Given the description of an element on the screen output the (x, y) to click on. 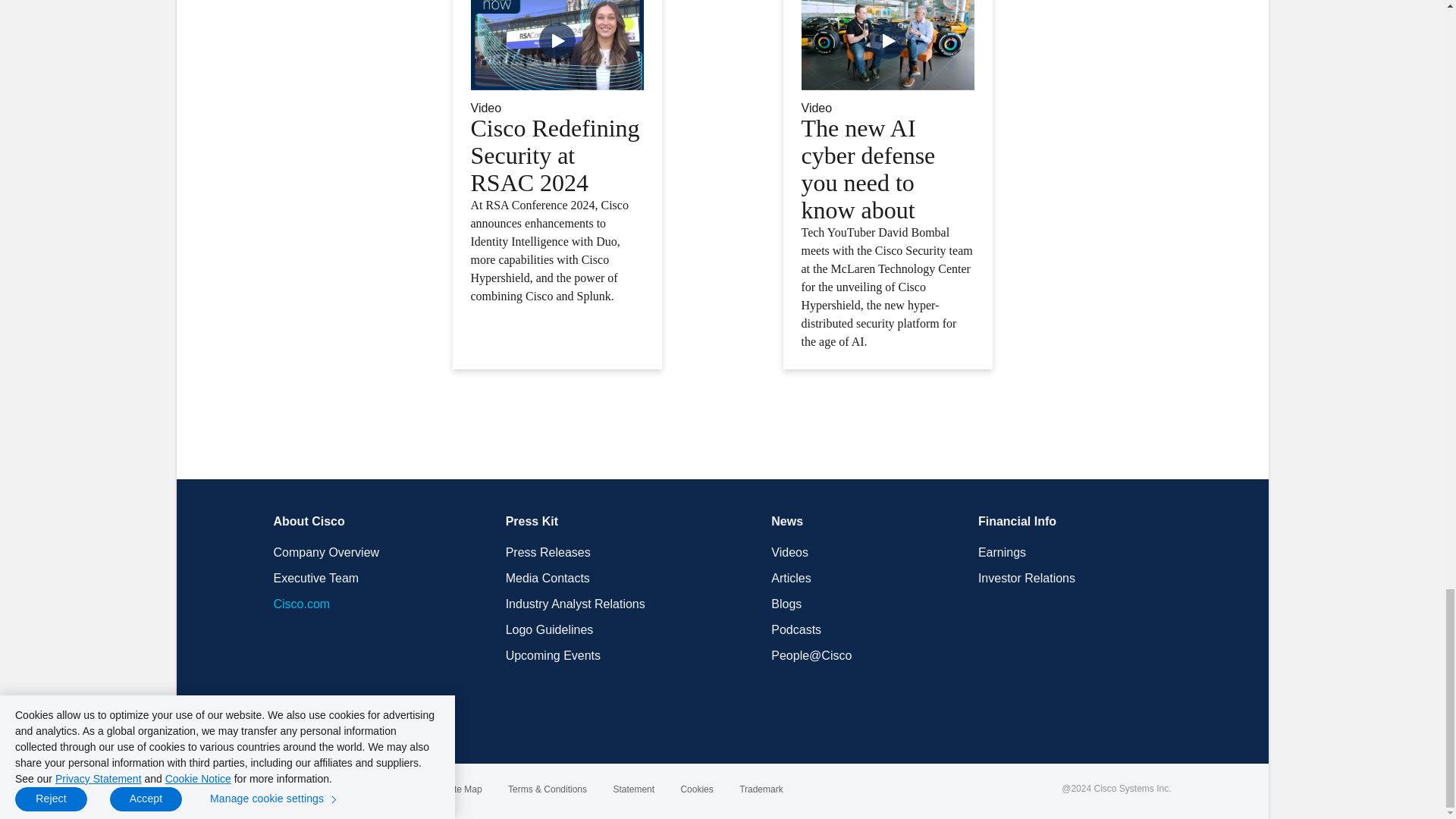
twitter (309, 720)
linkedin (340, 720)
instagram (405, 720)
youtube (373, 720)
